Given the description of an element on the screen output the (x, y) to click on. 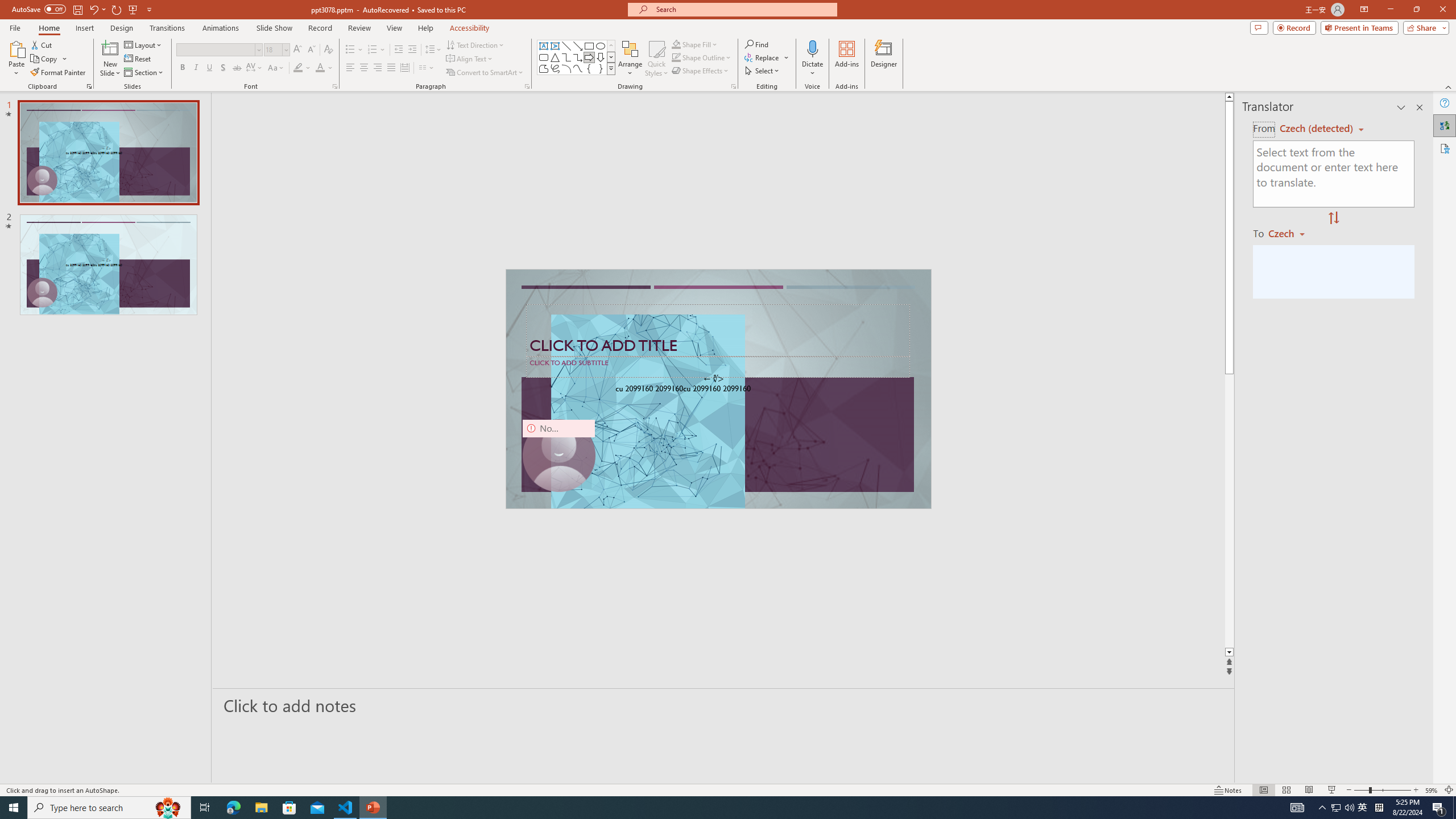
Czech (detected) (1317, 128)
Czech (1291, 232)
Shape Fill Dark Green, Accent 2 (675, 44)
